Given the description of an element on the screen output the (x, y) to click on. 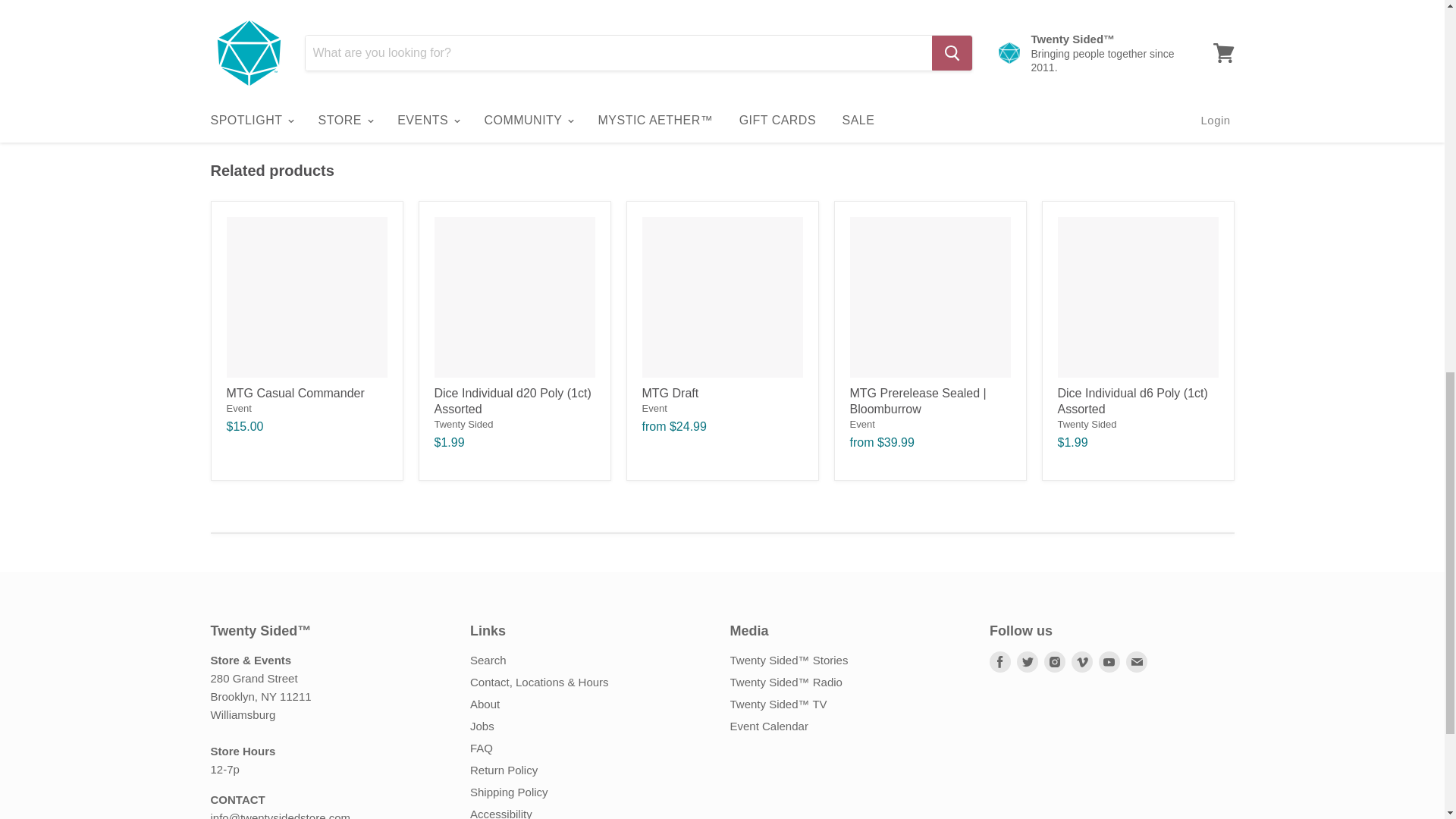
E-mail (1136, 661)
Instagram (1054, 661)
Twitter (1027, 661)
Facebook (1000, 661)
Vimeo (1082, 661)
Youtube (1109, 661)
